Given the description of an element on the screen output the (x, y) to click on. 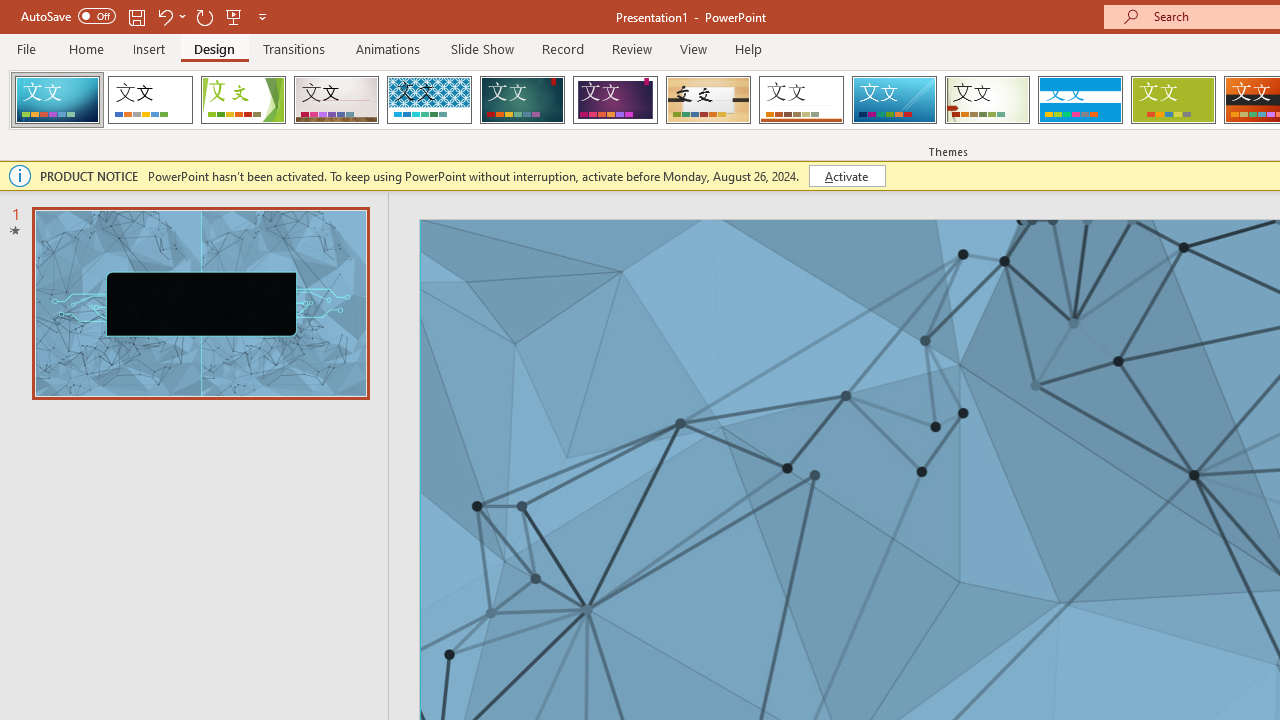
Activate (846, 175)
Basis (1172, 100)
Wisp (987, 100)
Ion (522, 100)
Ion Boardroom (615, 100)
